Given the description of an element on the screen output the (x, y) to click on. 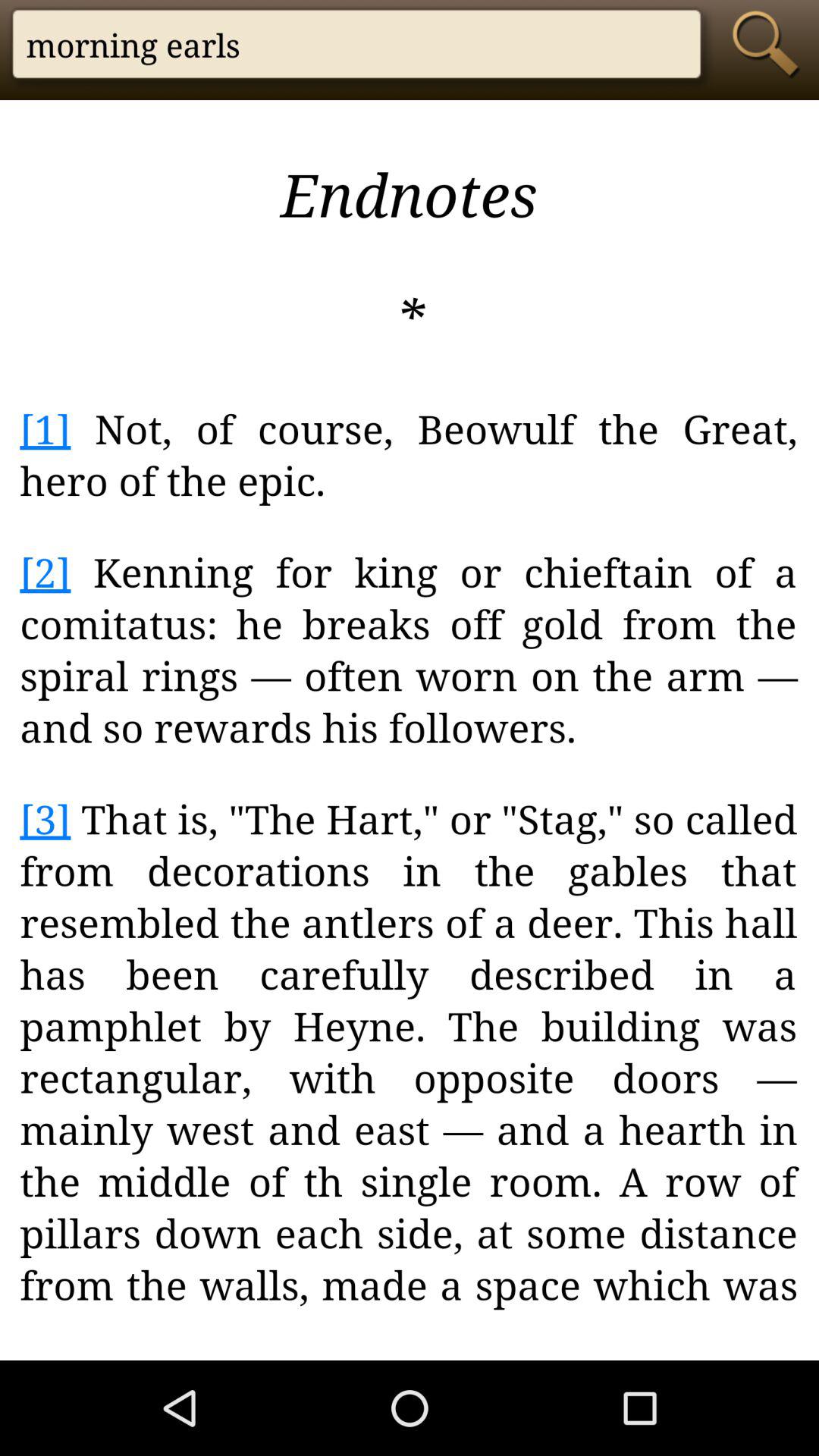
search (770, 43)
